Given the description of an element on the screen output the (x, y) to click on. 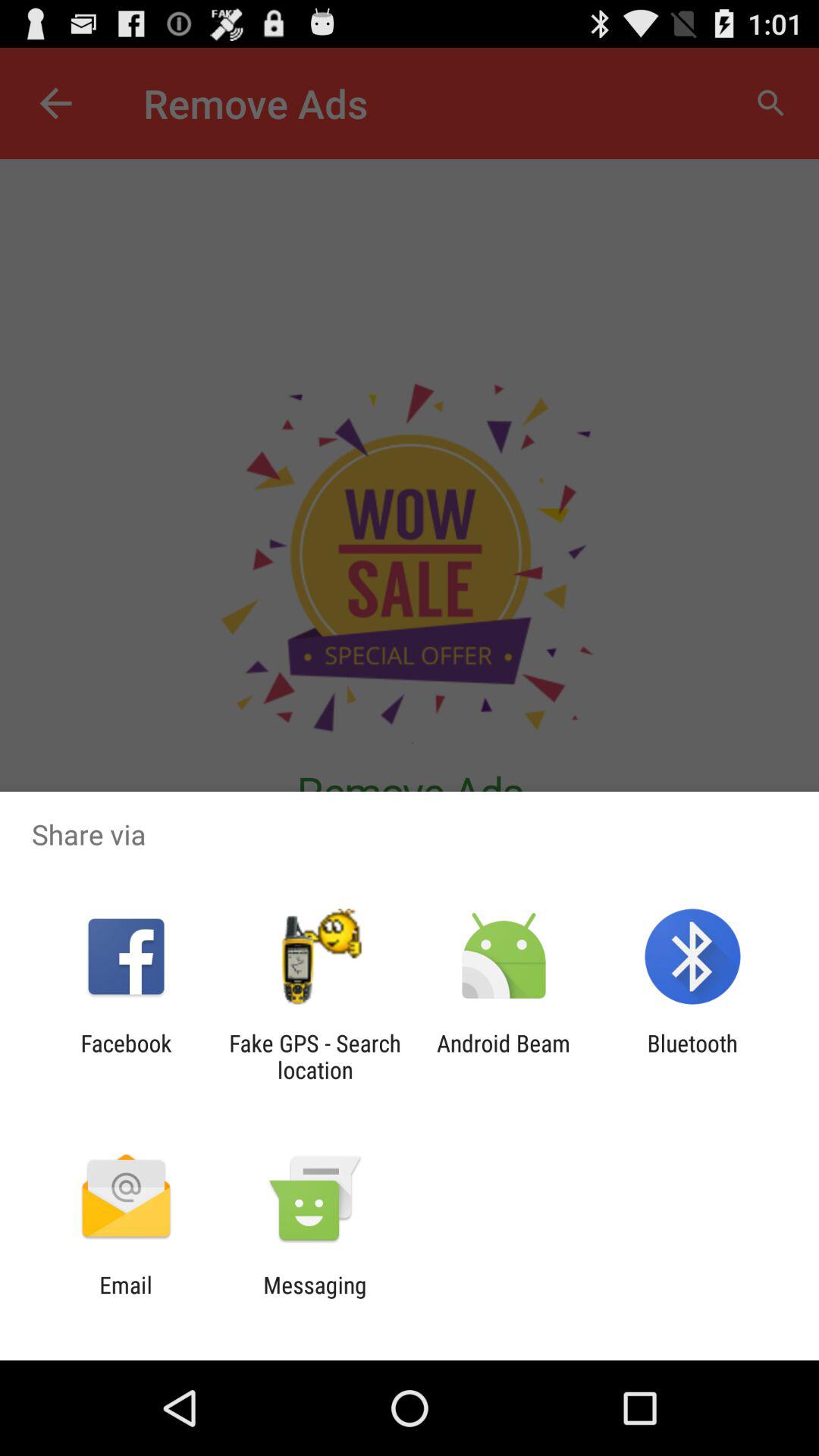
turn on the app next to fake gps search app (503, 1056)
